Given the description of an element on the screen output the (x, y) to click on. 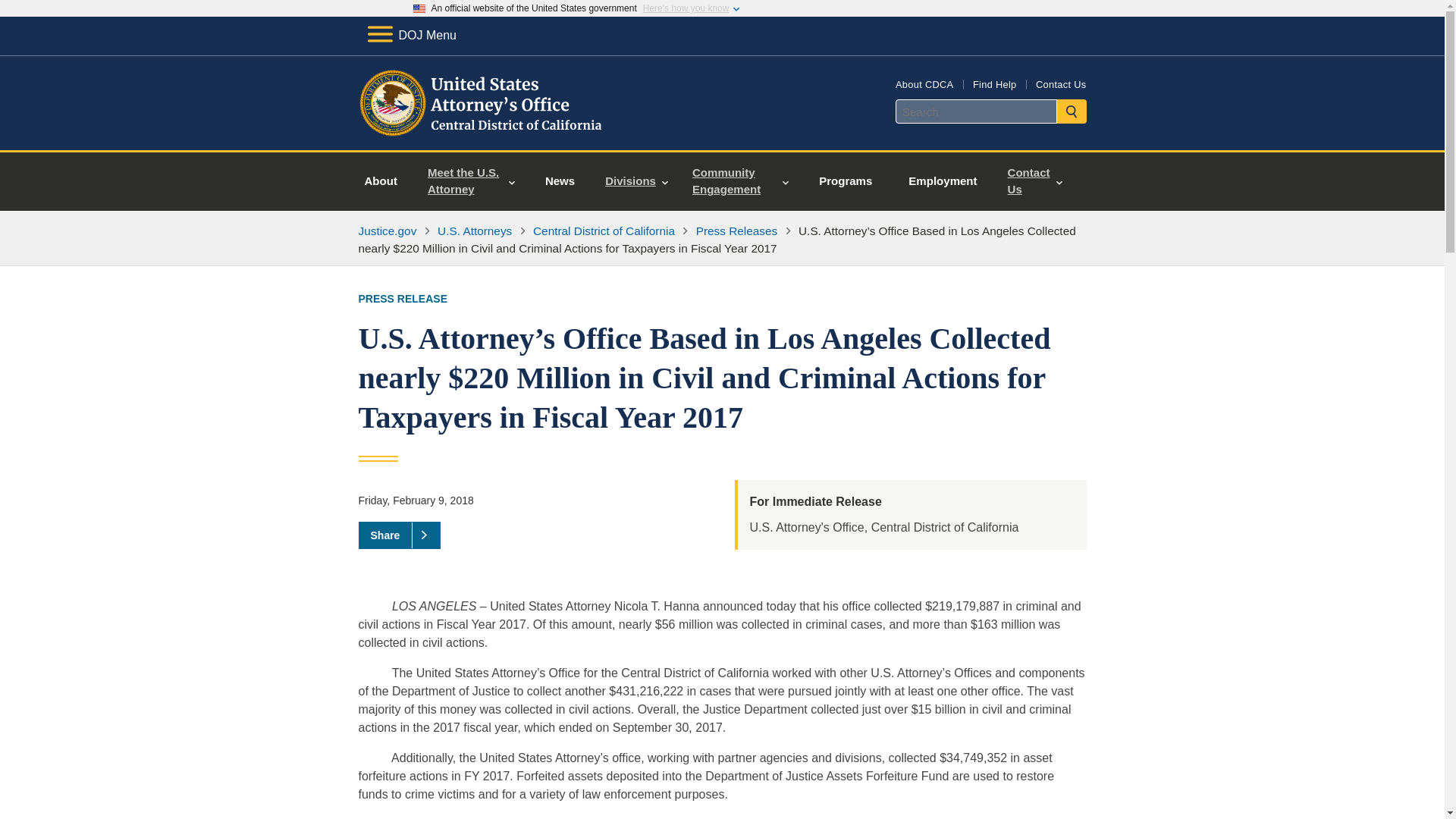
Find Help (994, 84)
About (380, 181)
Employment (941, 181)
About CDCA (924, 84)
Here's how you know (686, 8)
Share (398, 534)
Central District of California (603, 230)
U.S. Attorneys (475, 230)
Community Engagement (739, 181)
DOJ Menu (411, 35)
Programs (844, 181)
Justice.gov (387, 230)
Contact Us (1060, 84)
News (559, 181)
Contact Us (1034, 181)
